Given the description of an element on the screen output the (x, y) to click on. 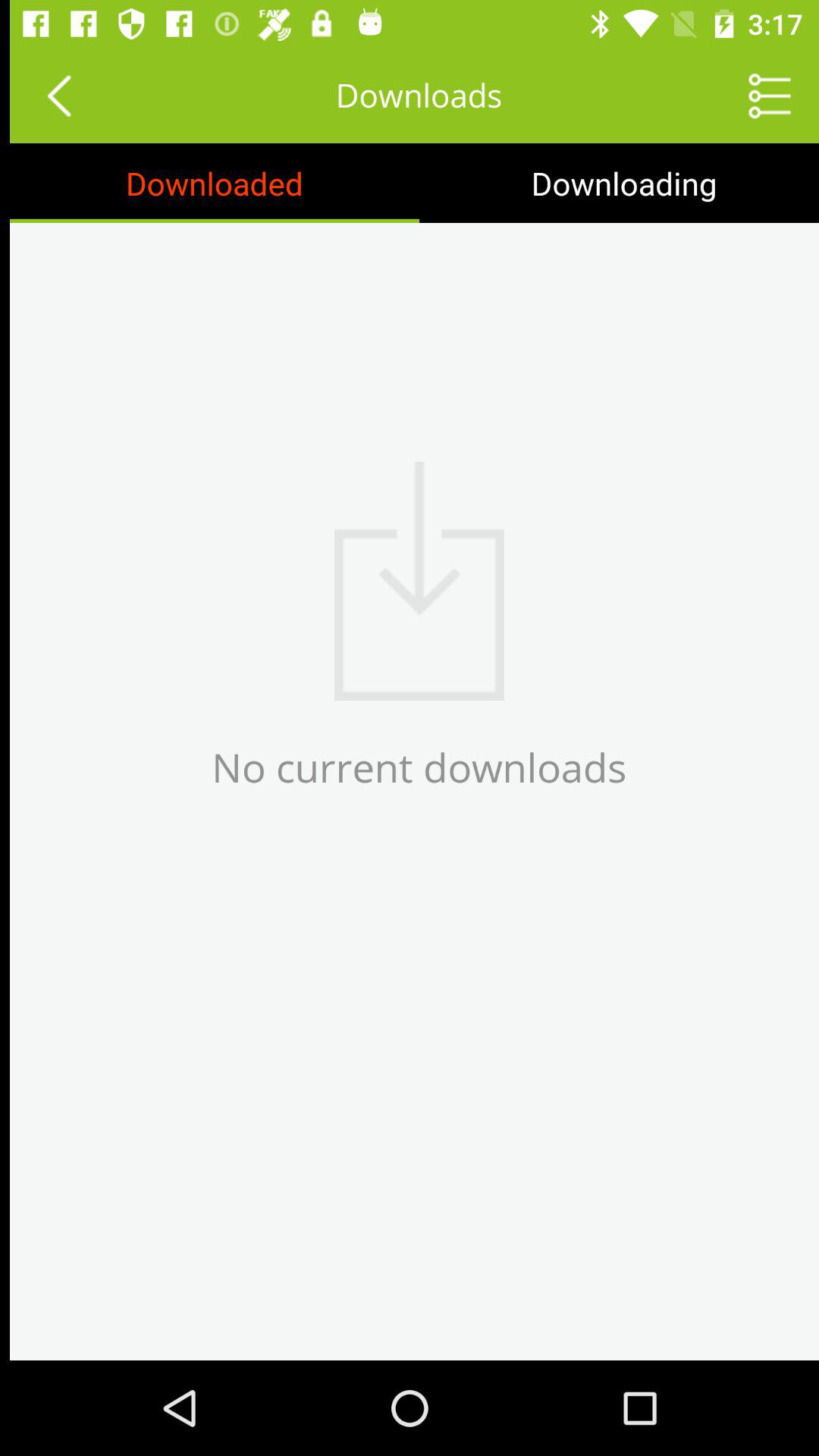
go to previous (48, 95)
